Given the description of an element on the screen output the (x, y) to click on. 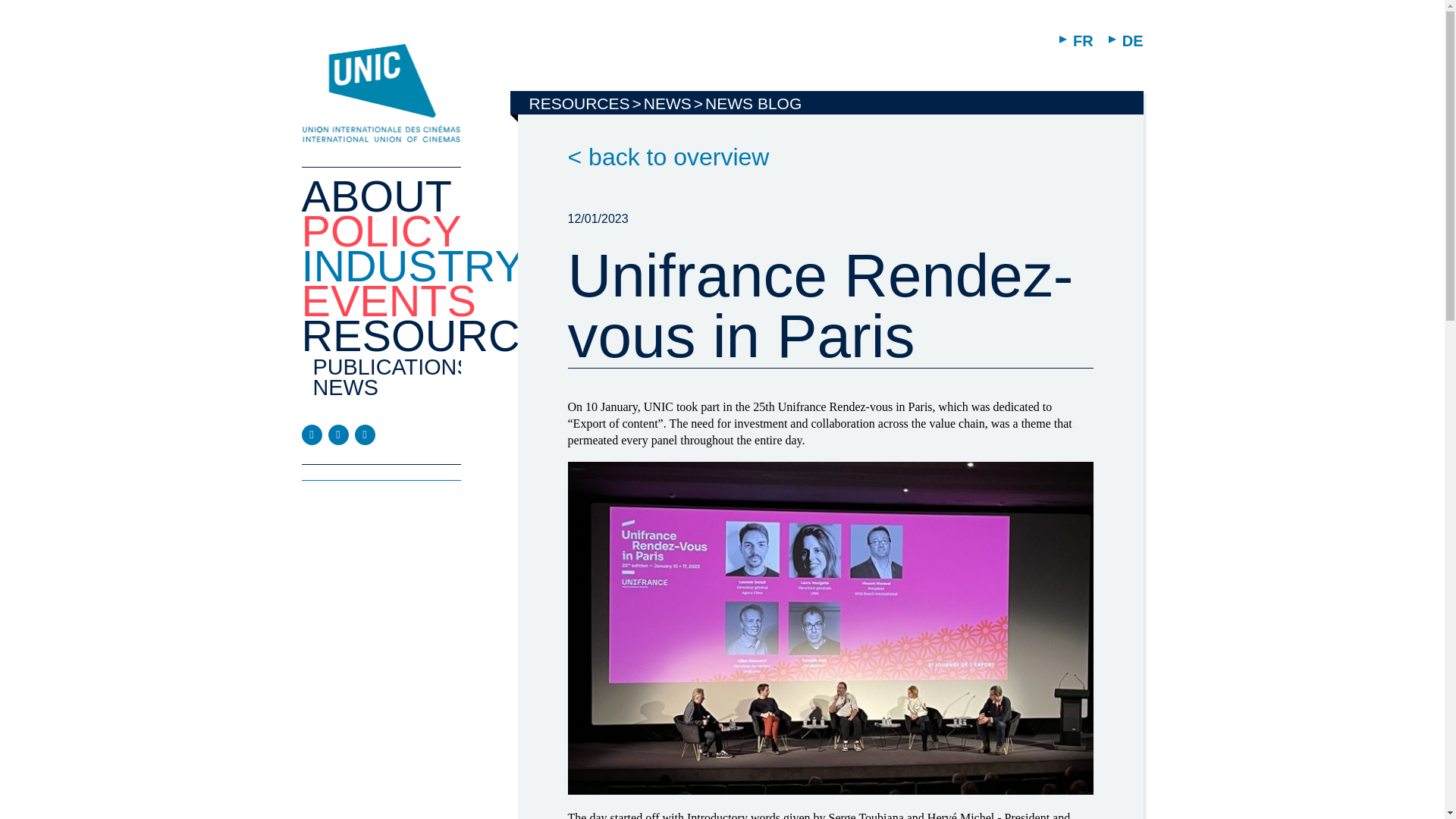
FR (1076, 40)
DE (1125, 40)
